Given the description of an element on the screen output the (x, y) to click on. 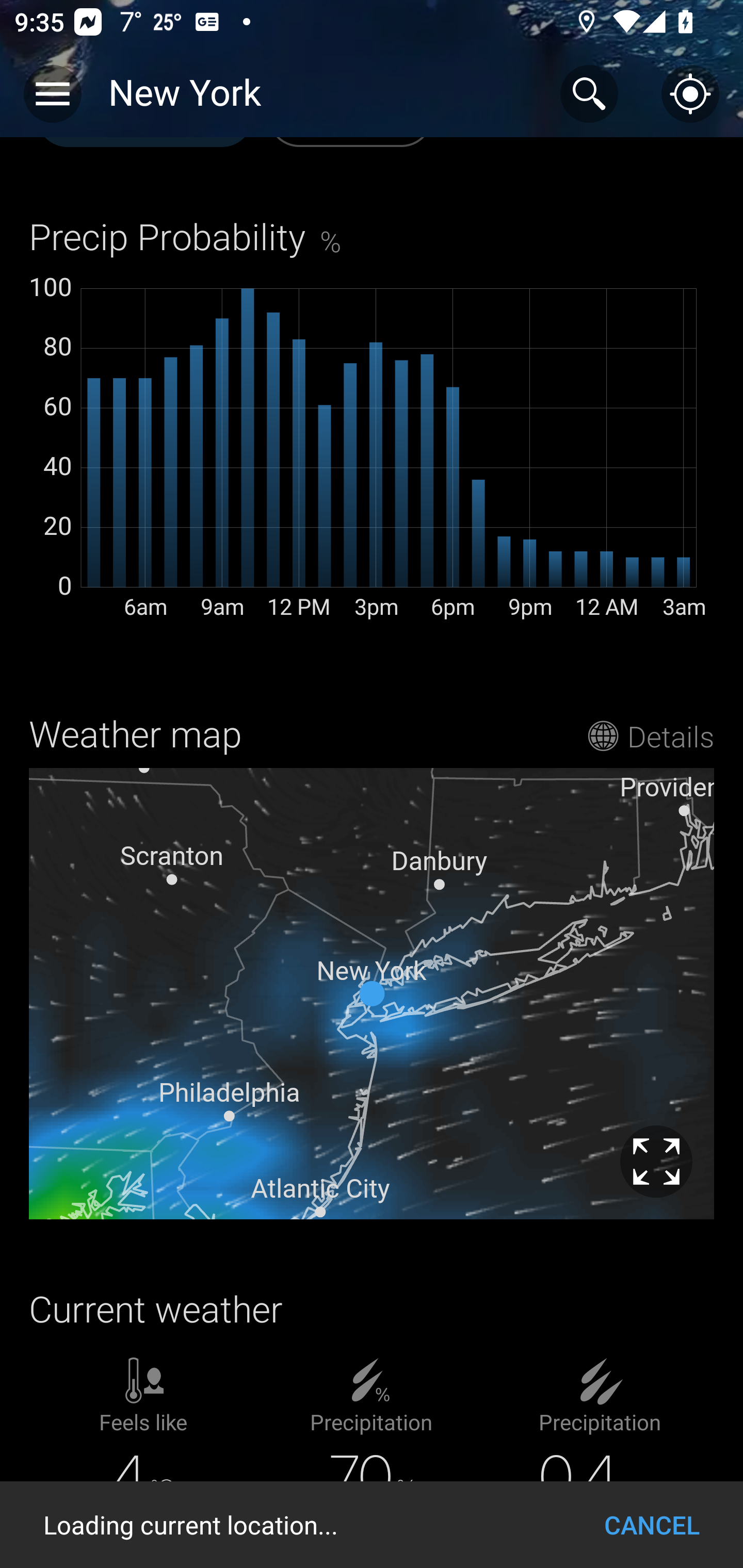
Loading current location... CANCEL (371, 1524)
CANCEL (651, 1524)
